Given the description of an element on the screen output the (x, y) to click on. 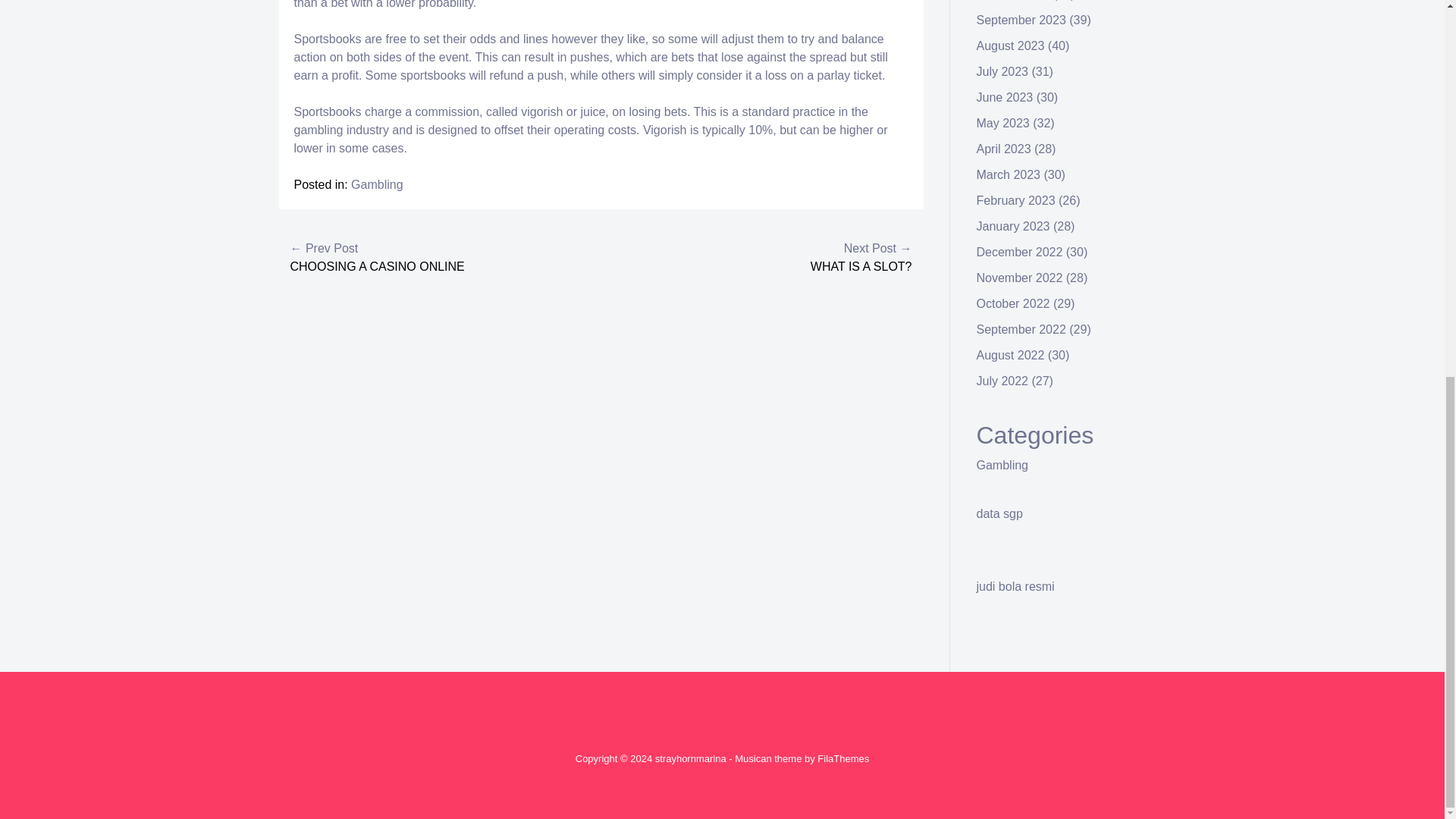
December 2022 (1019, 251)
September 2023 (1020, 19)
October 2023 (1012, 0)
August 2022 (1010, 354)
October 2022 (1012, 303)
April 2023 (1003, 148)
Gambling (1001, 464)
July 2022 (1002, 380)
Gambling (376, 184)
January 2023 (1012, 226)
August 2023 (1010, 45)
March 2023 (1008, 174)
September 2022 (1020, 328)
strayhornmarina (690, 758)
May 2023 (1002, 123)
